Given the description of an element on the screen output the (x, y) to click on. 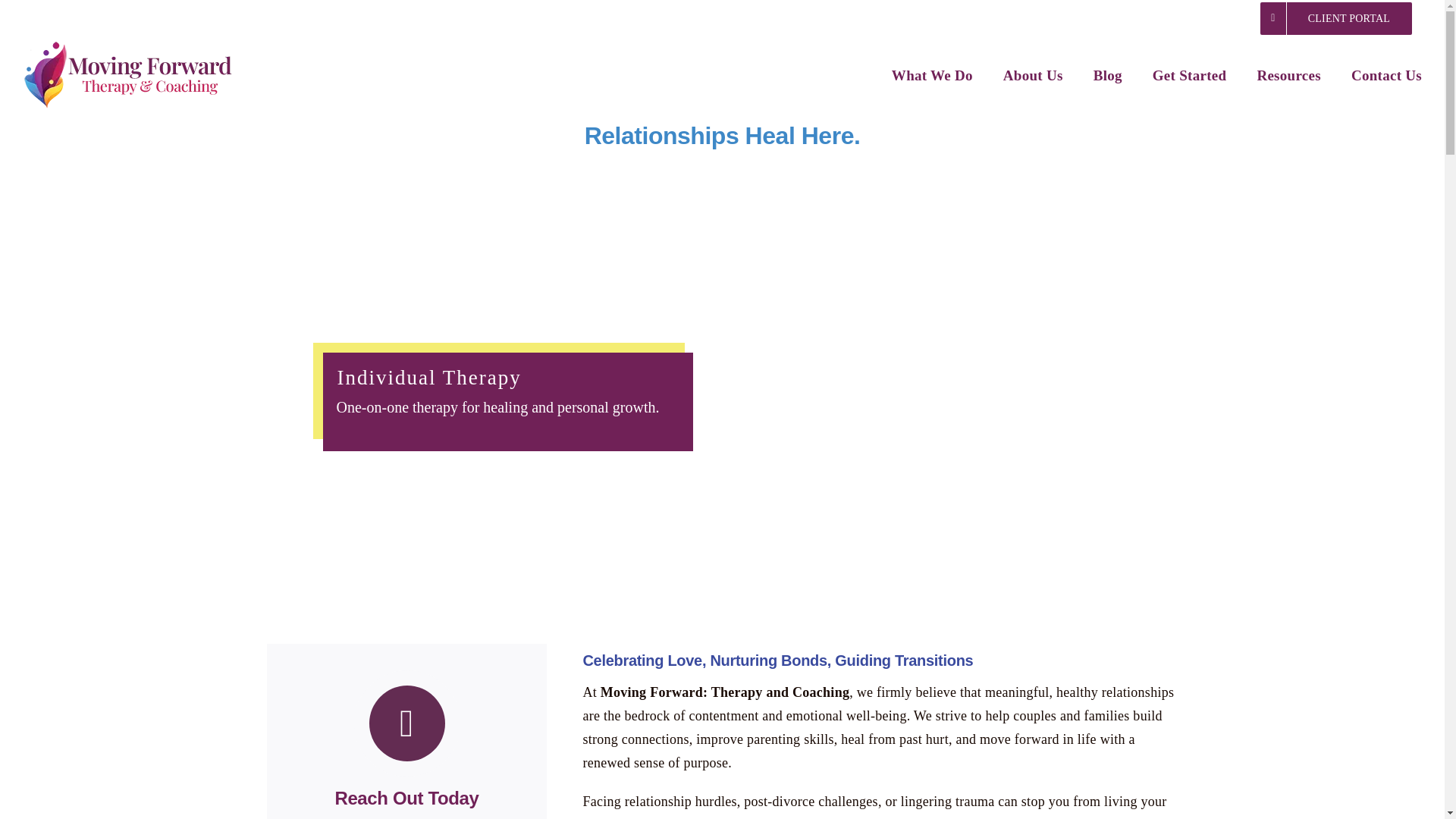
Contact Us (1386, 74)
CLIENT PORTAL (1336, 18)
Get Started (1190, 74)
What We Do (931, 74)
